Given the description of an element on the screen output the (x, y) to click on. 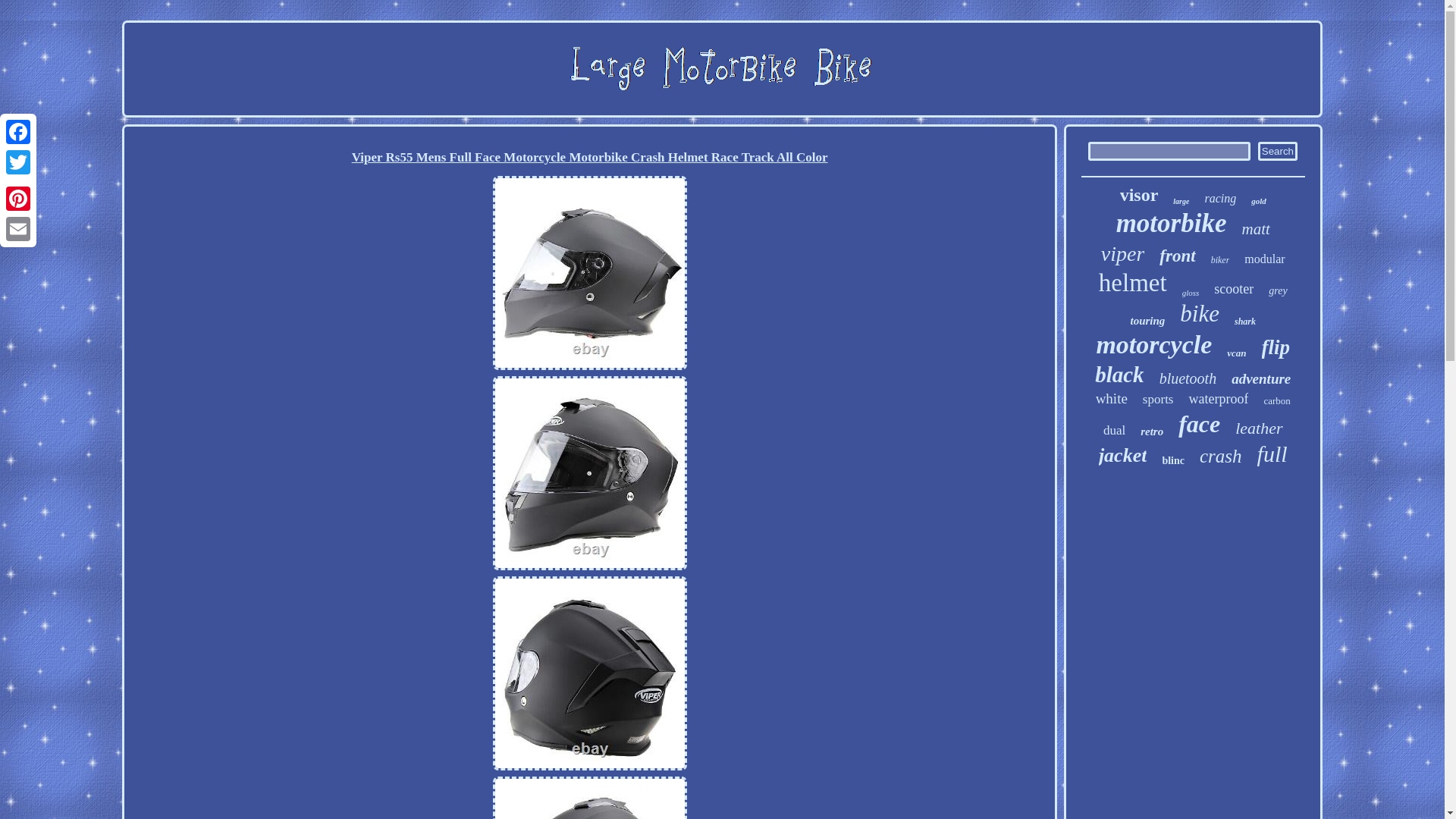
bike (1199, 313)
gloss (1190, 292)
matt (1255, 229)
motorbike (1171, 223)
Facebook (17, 132)
modular (1264, 259)
shark (1244, 321)
Search (1277, 150)
grey (1277, 291)
Search (1277, 150)
Pinterest (17, 198)
biker (1220, 260)
